Given the description of an element on the screen output the (x, y) to click on. 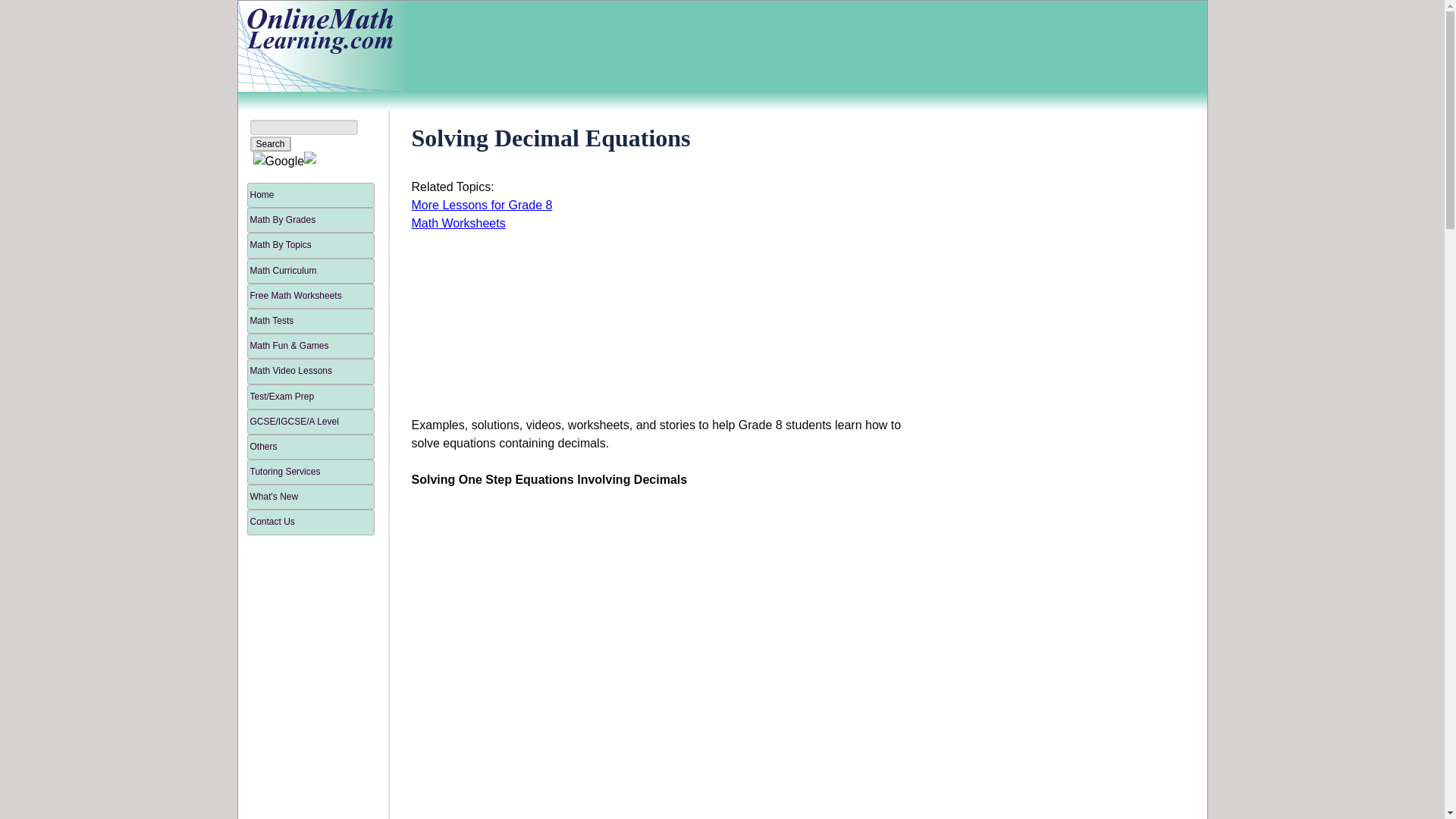
More Lessons for Grade 8 (480, 205)
Search (270, 143)
OML Home (317, 45)
Math By Grades (310, 220)
Search (270, 143)
Math By Topics (310, 244)
Home (310, 195)
Math Worksheets (457, 223)
